Given the description of an element on the screen output the (x, y) to click on. 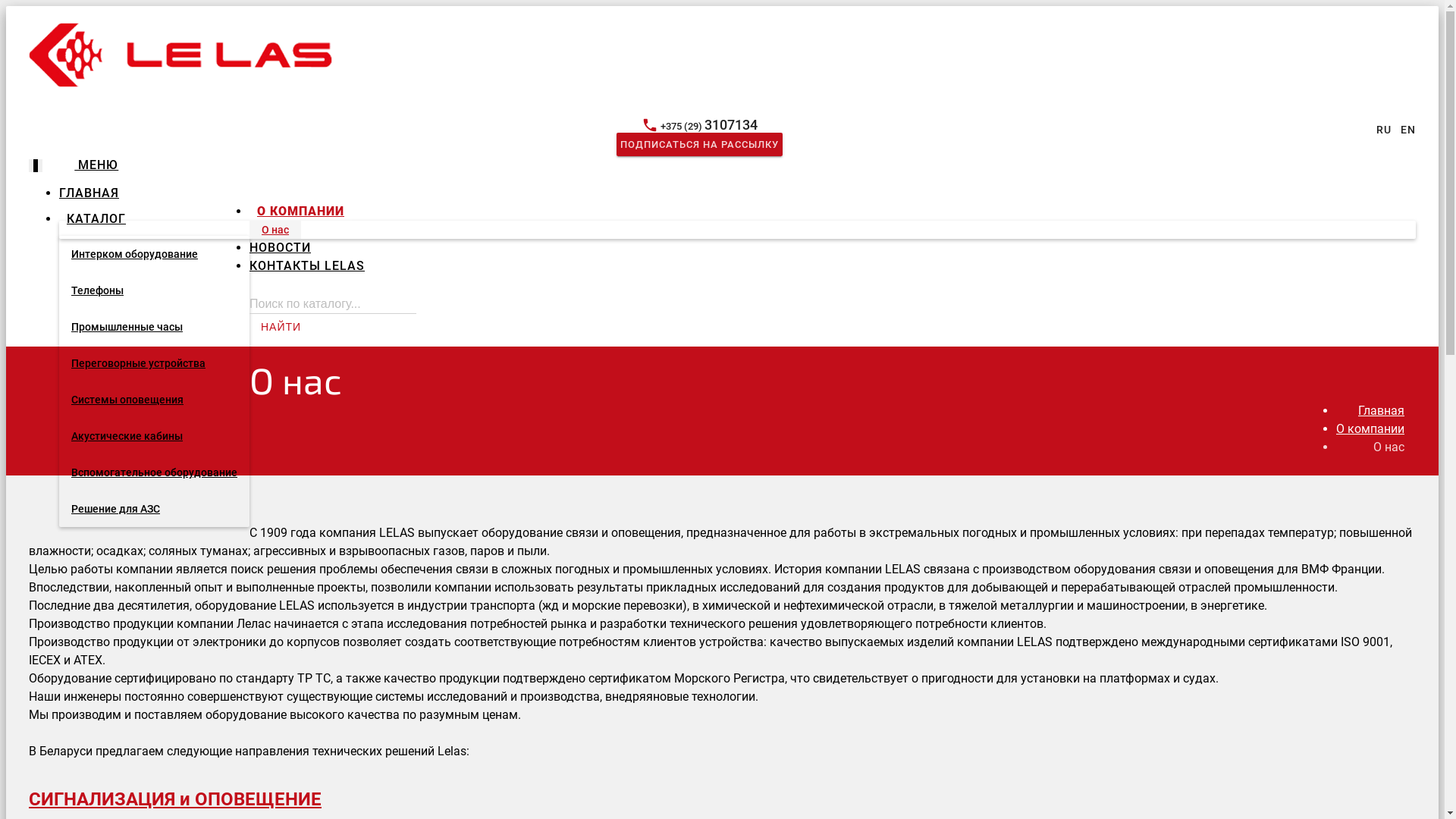
RU Element type: text (1383, 129)
phone +375 (29) 3107134 Element type: text (699, 125)
EN Element type: text (1407, 129)
